Given the description of an element on the screen output the (x, y) to click on. 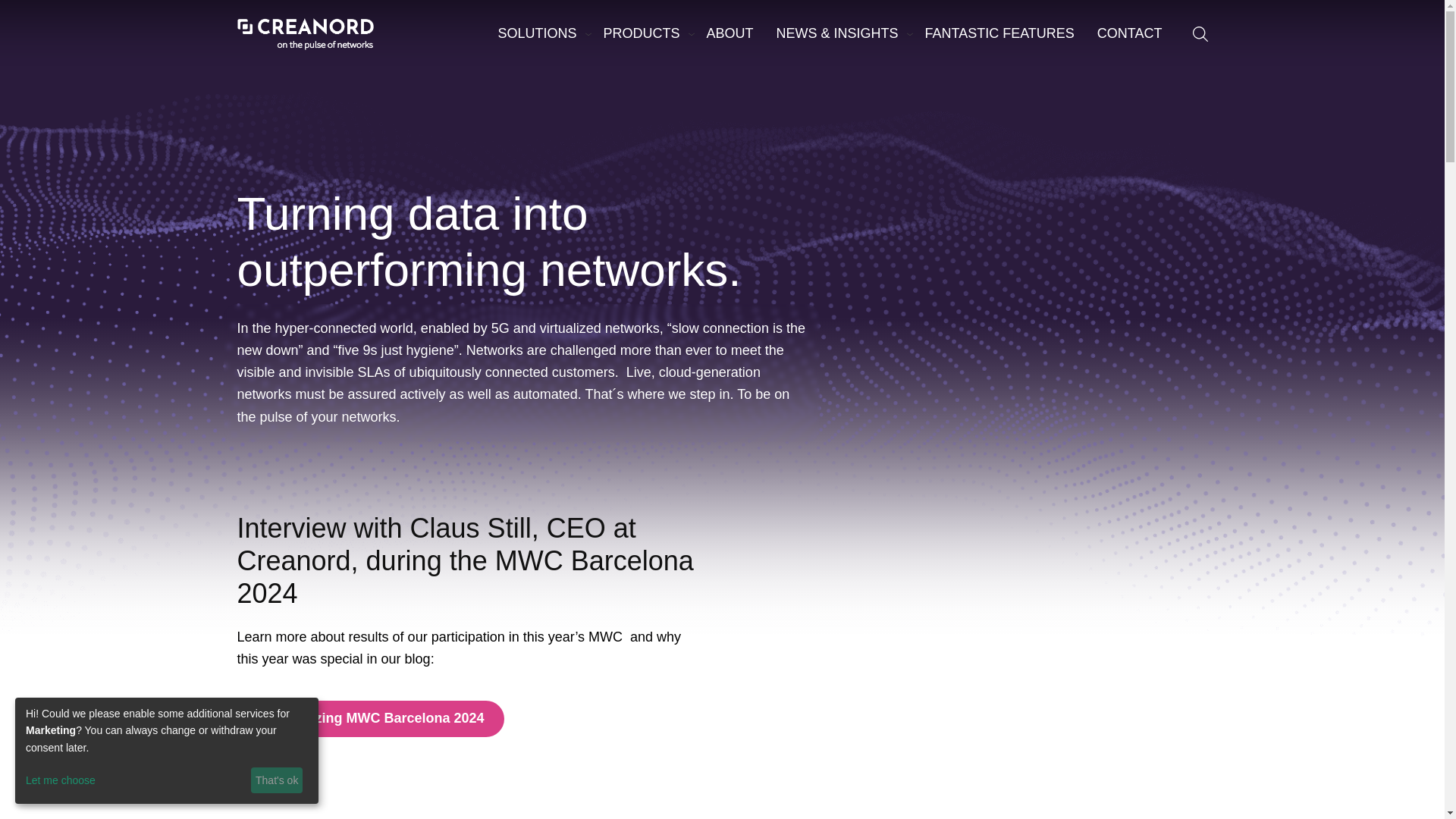
Creanord (303, 33)
SOLUTIONS (538, 33)
FANTASTIC FEATURES (998, 33)
PRODUCTS (642, 33)
CONTACT (1129, 33)
ABOUT (729, 33)
